Given the description of an element on the screen output the (x, y) to click on. 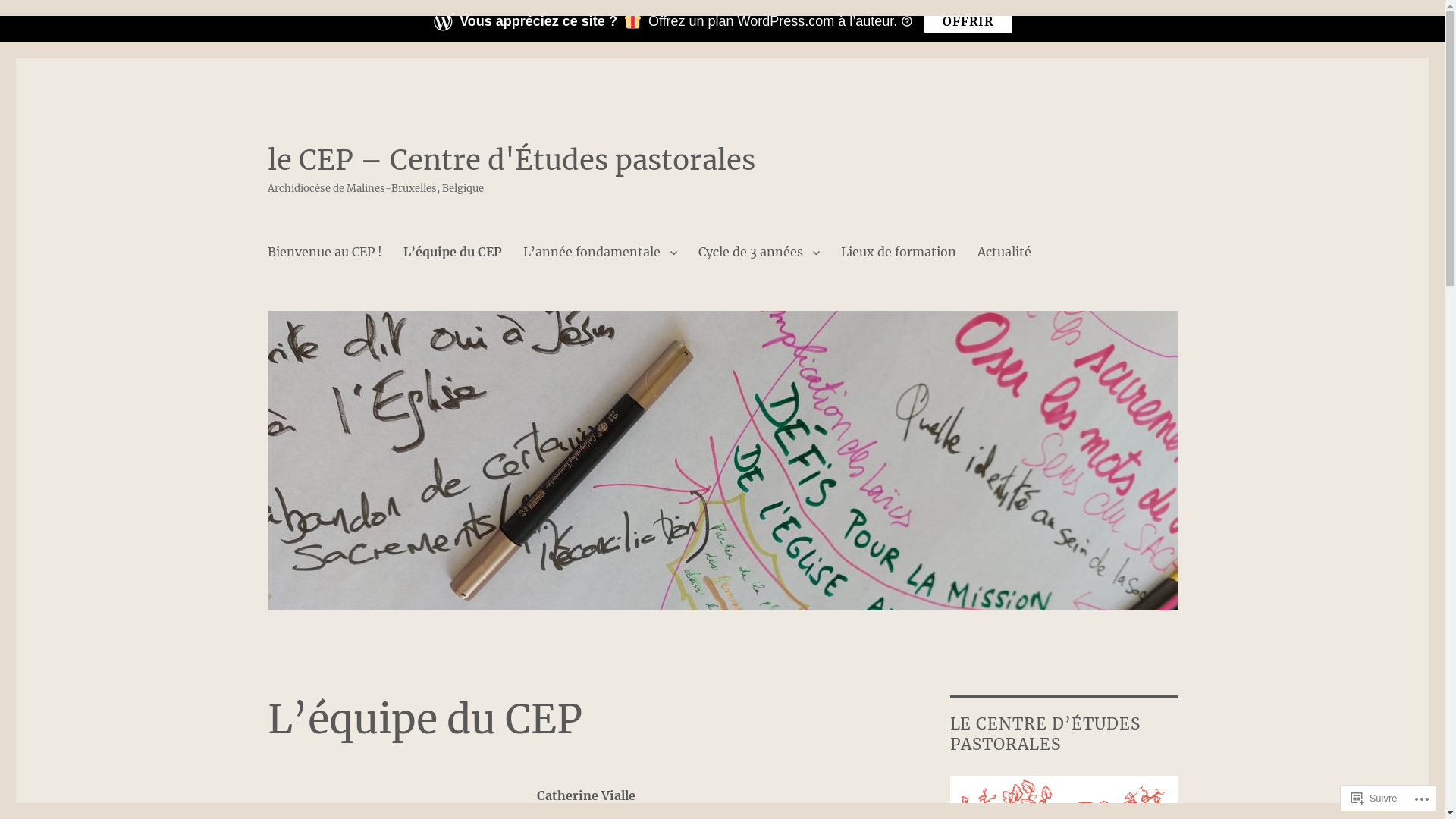
Bienvenue au CEP ! Element type: text (324, 252)
Lieux de formation Element type: text (897, 252)
OFFRIR Element type: text (968, 21)
Suivre Element type: text (1374, 797)
